Given the description of an element on the screen output the (x, y) to click on. 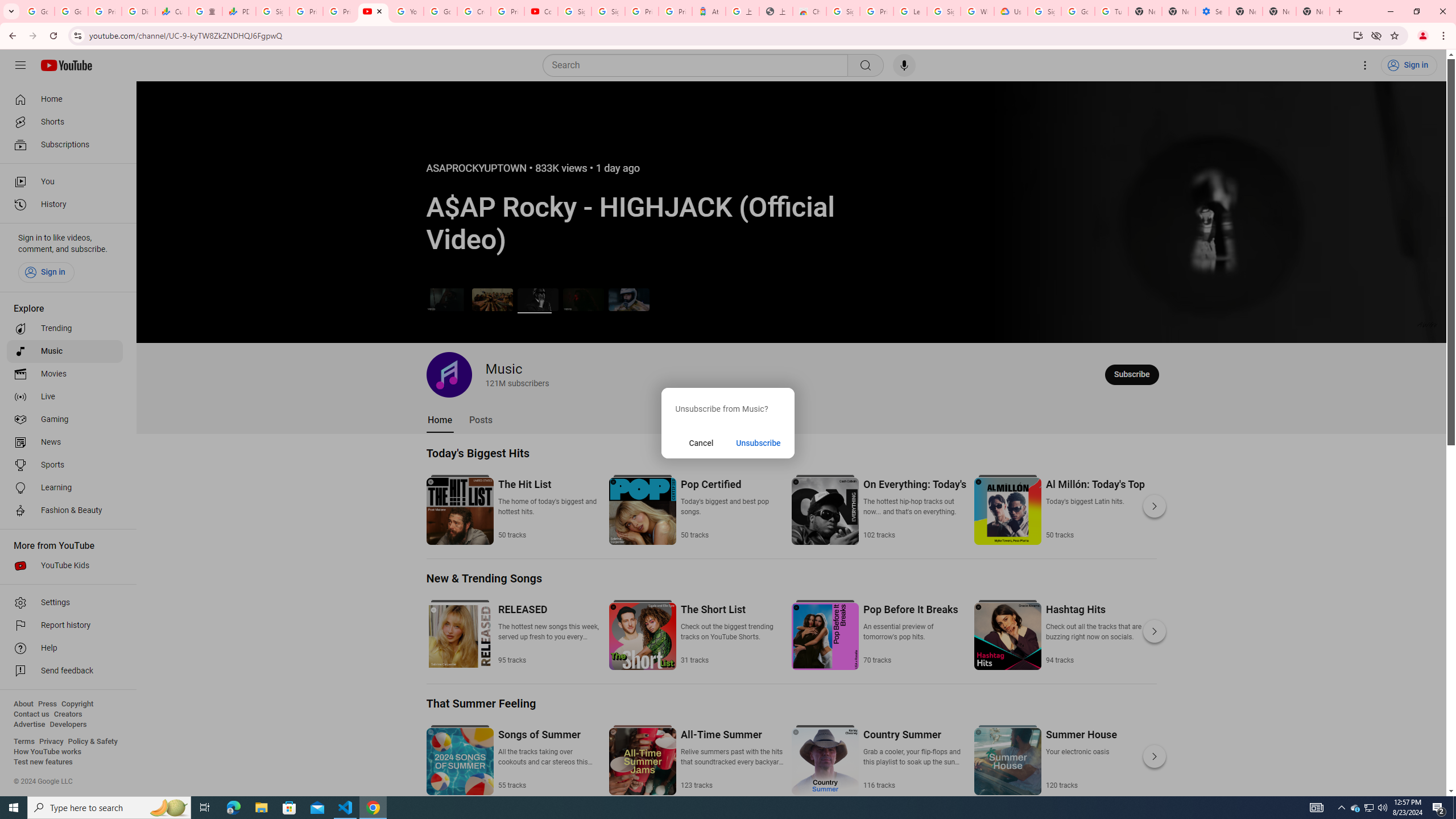
YouTube Home (66, 65)
Subscribe to Music. (1131, 374)
New Tab (1313, 11)
History (64, 204)
Guide (20, 65)
Sports (64, 464)
